Given the description of an element on the screen output the (x, y) to click on. 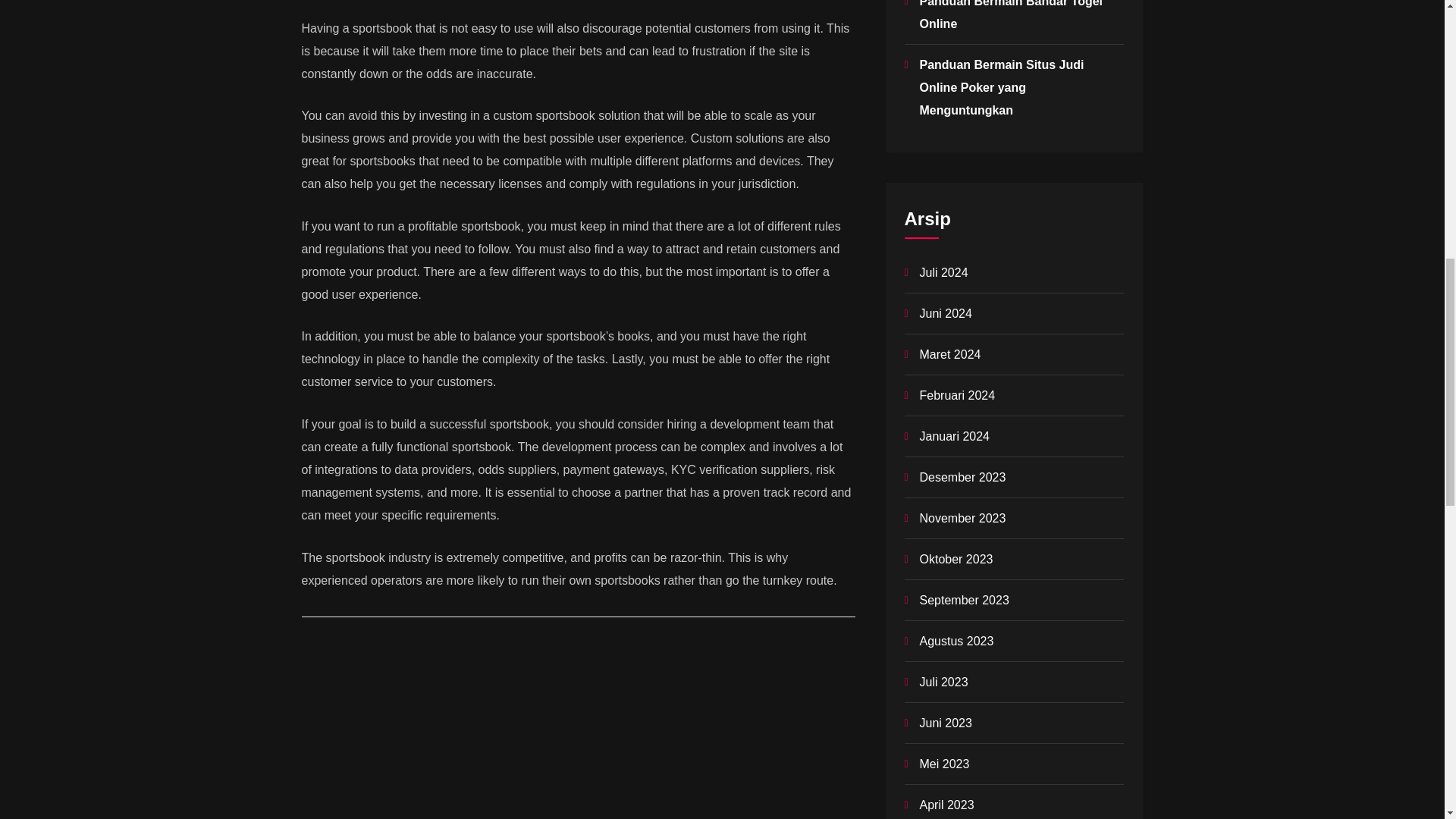
Mei 2023 (943, 763)
Juni 2023 (944, 722)
Februari 2024 (956, 395)
November 2023 (962, 517)
Oktober 2023 (955, 558)
Panduan Bermain Situs Judi Online Poker yang Menguntungkan (1000, 87)
September 2023 (963, 599)
Juni 2024 (944, 313)
Juli 2024 (943, 272)
Desember 2023 (962, 477)
Agustus 2023 (955, 640)
Juli 2023 (943, 681)
April 2023 (946, 804)
Maret 2024 (948, 354)
Panduan Bermain Bandar Togel Online (1010, 15)
